Given the description of an element on the screen output the (x, y) to click on. 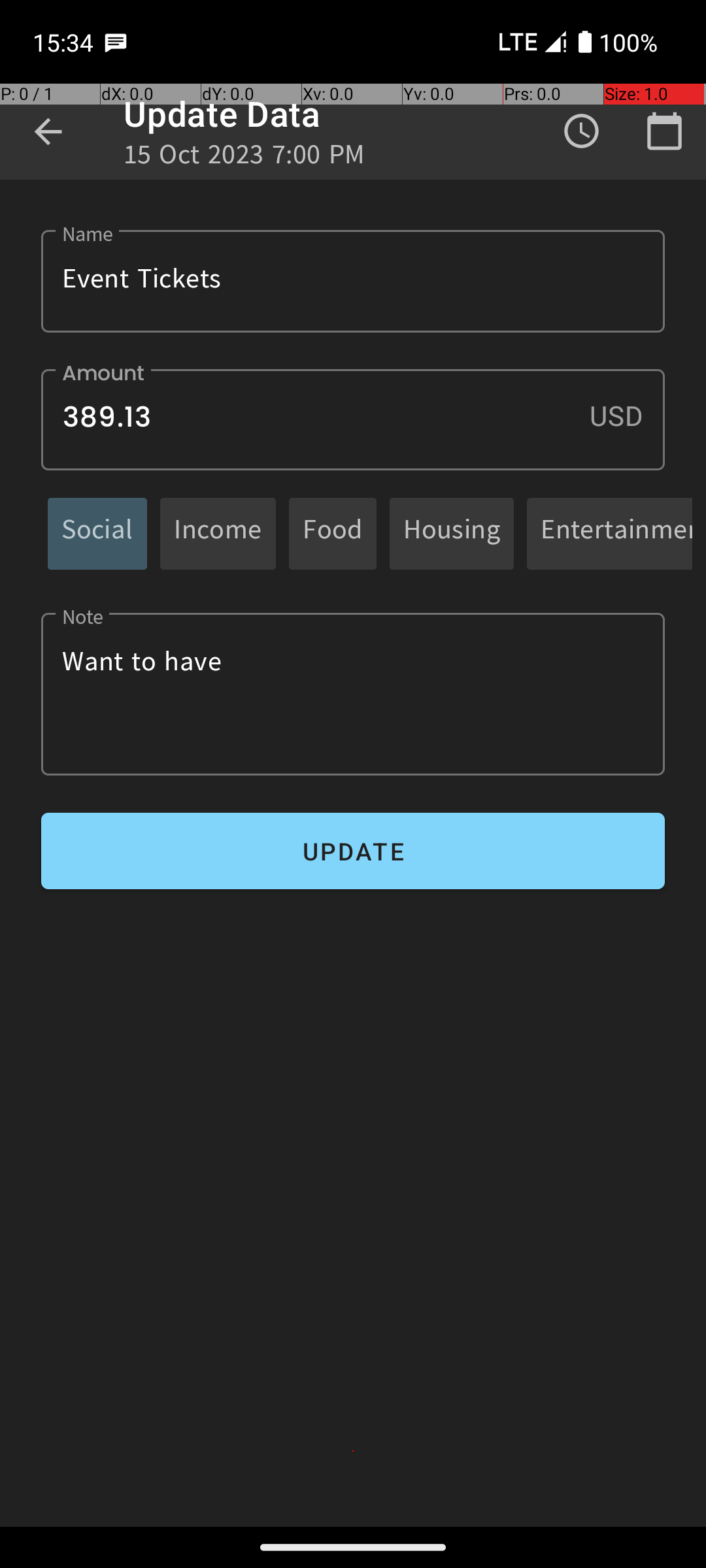
15 Oct 2023 7:00 PM Element type: android.widget.TextView (244, 157)
Event Tickets Element type: android.widget.EditText (352, 280)
389.13 Element type: android.widget.EditText (352, 419)
